Given the description of an element on the screen output the (x, y) to click on. 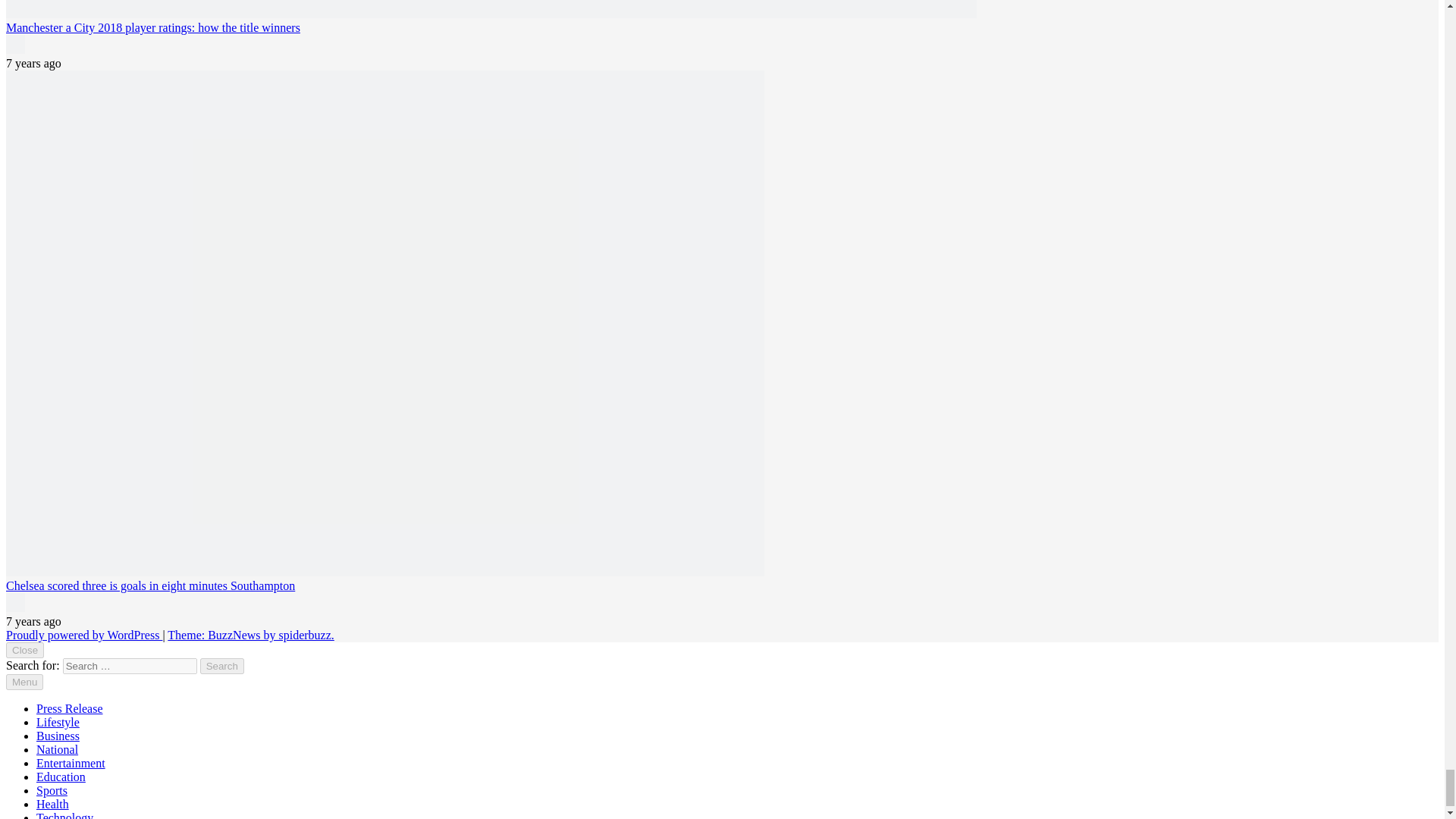
Search (222, 666)
Search (222, 666)
